Given the description of an element on the screen output the (x, y) to click on. 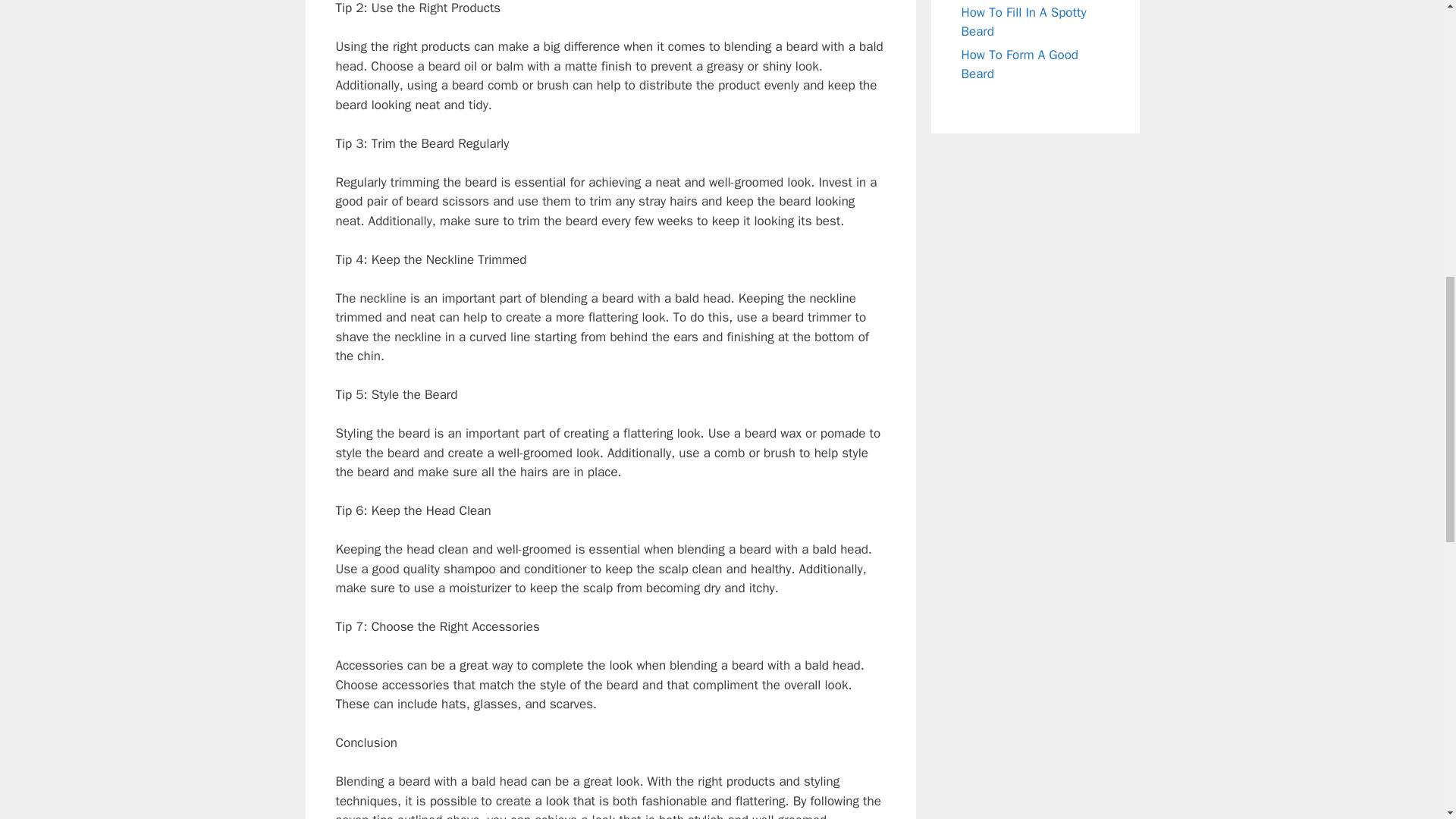
How To Fill In A Spotty Beard (1023, 22)
How To Form A Good Beard (1019, 64)
